Given the description of an element on the screen output the (x, y) to click on. 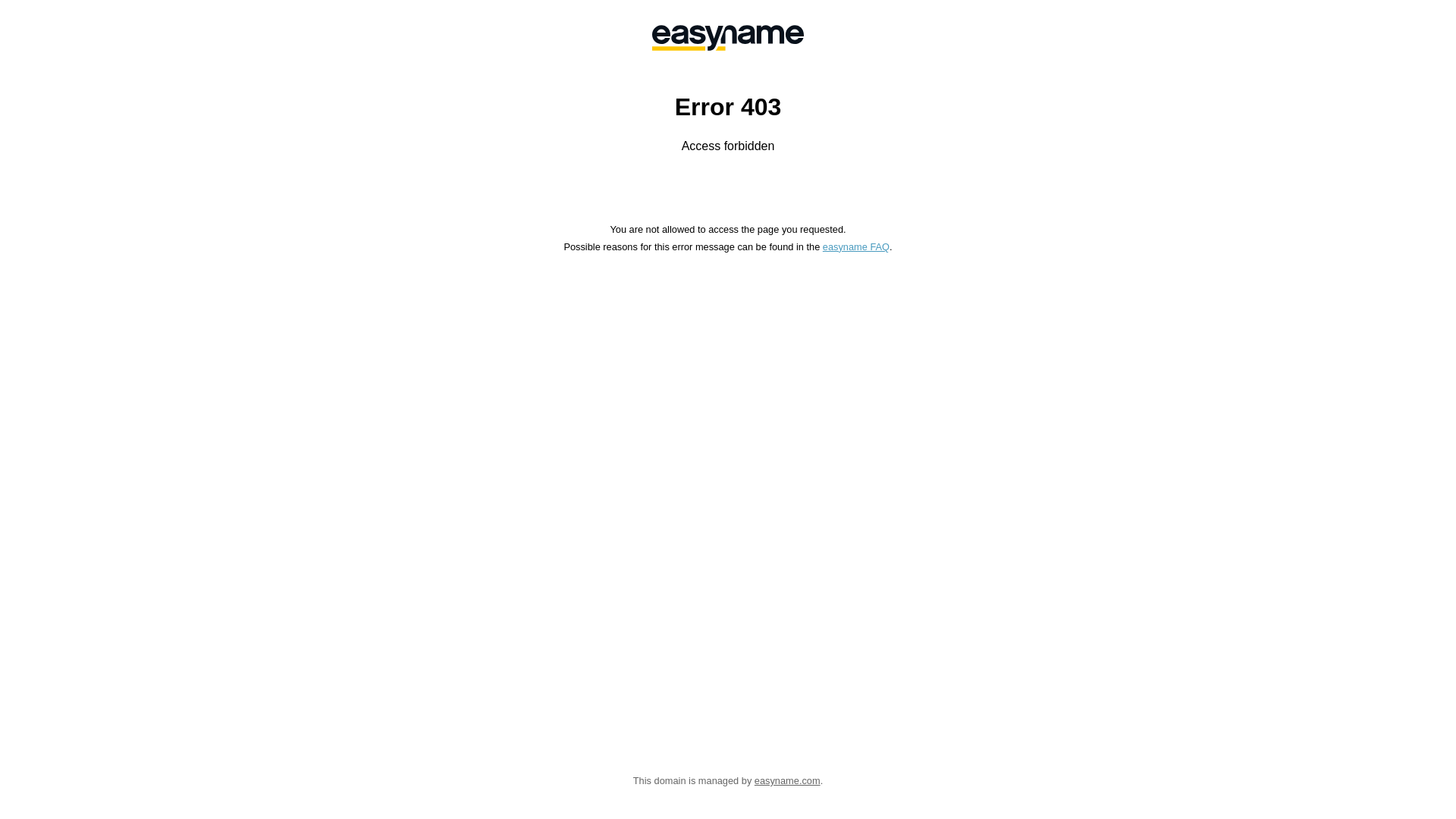
easyname FAQ Element type: text (855, 246)
easyname GmbH Element type: hover (727, 37)
easyname.com Element type: text (787, 780)
